Given the description of an element on the screen output the (x, y) to click on. 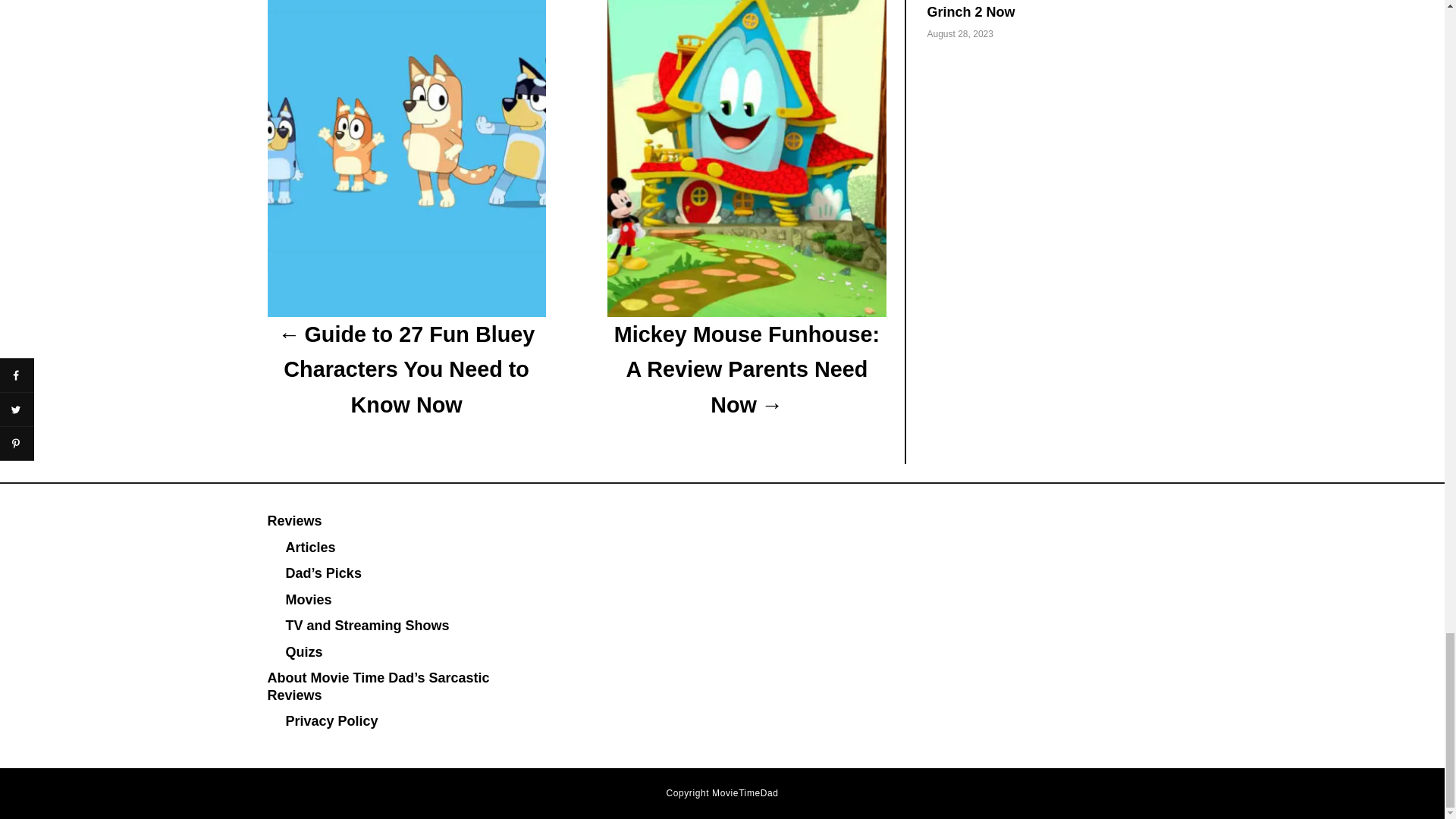
Guide to 27 Fun Bluey Characters You Need to Know Now (405, 369)
Mickey Mouse Funhouse: A Review Parents Need Now (746, 369)
